Given the description of an element on the screen output the (x, y) to click on. 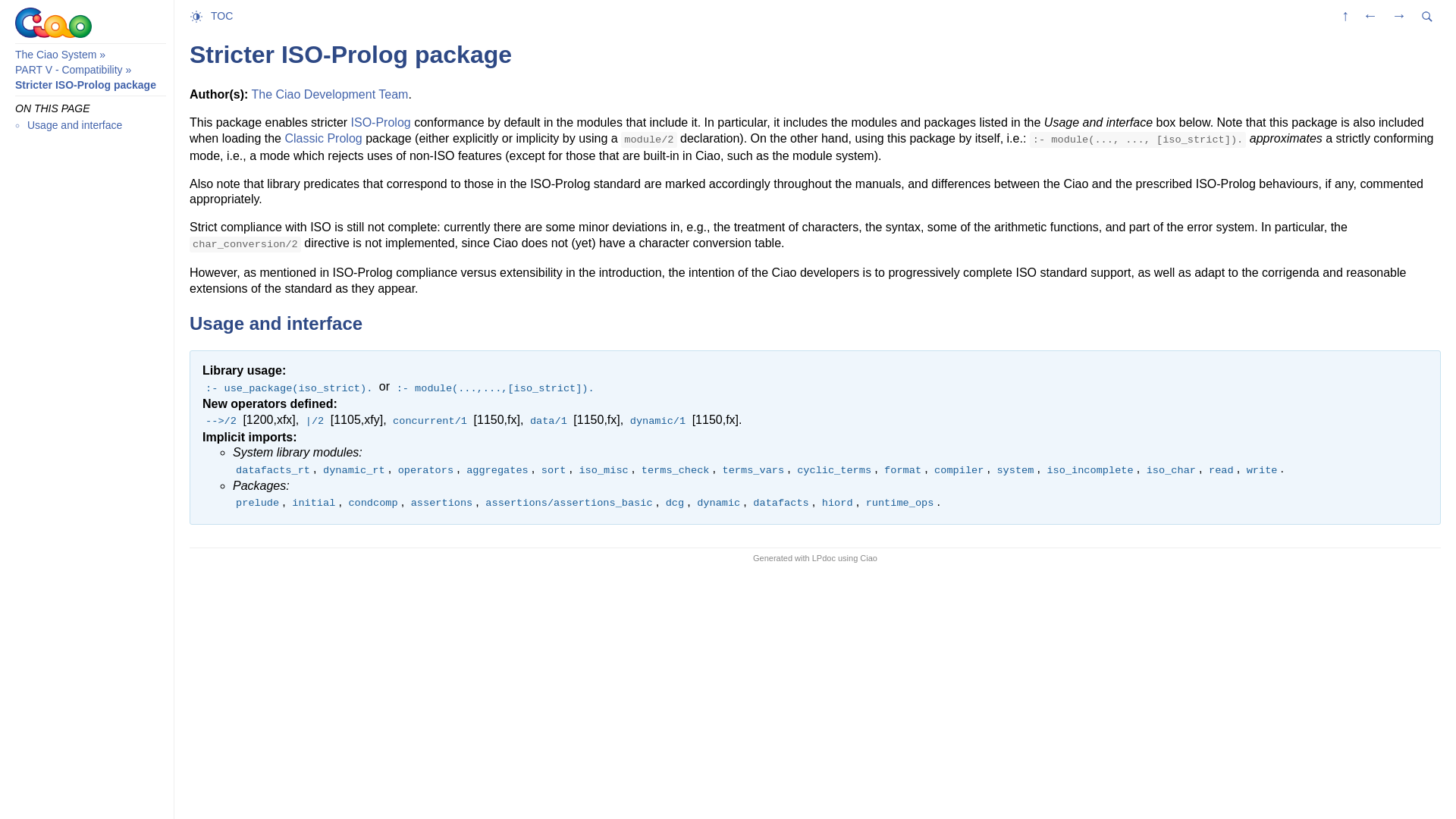
The Ciao Development Team (328, 93)
aggregates (497, 468)
Change theme (200, 15)
system (1014, 468)
format (902, 468)
Classic Prolog (322, 137)
Usage and interface (74, 124)
ISO-Prolog (380, 122)
PART V - Compatibility (68, 69)
operators (425, 468)
